Given the description of an element on the screen output the (x, y) to click on. 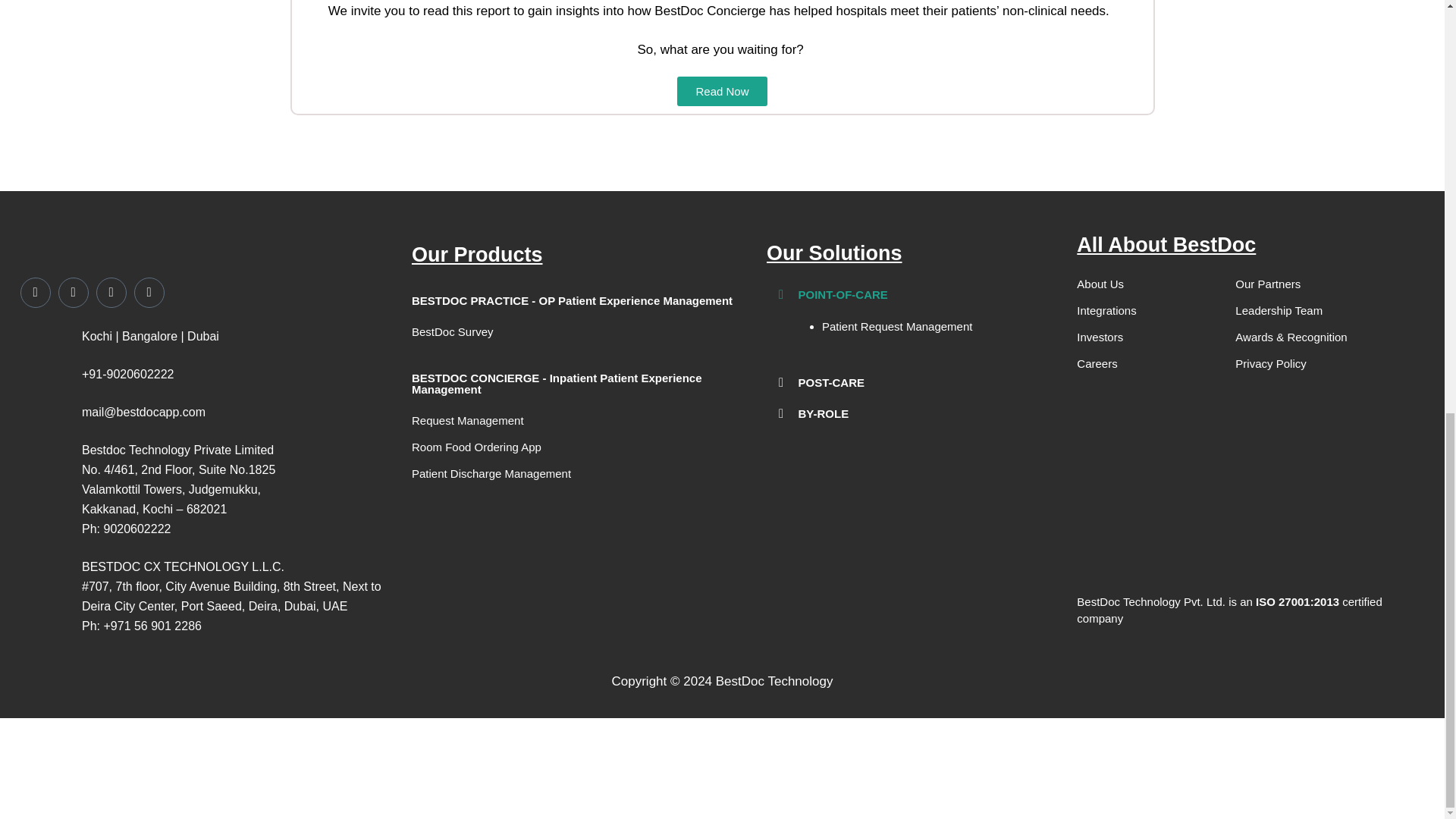
Scroll back to top (1406, 706)
